Given the description of an element on the screen output the (x, y) to click on. 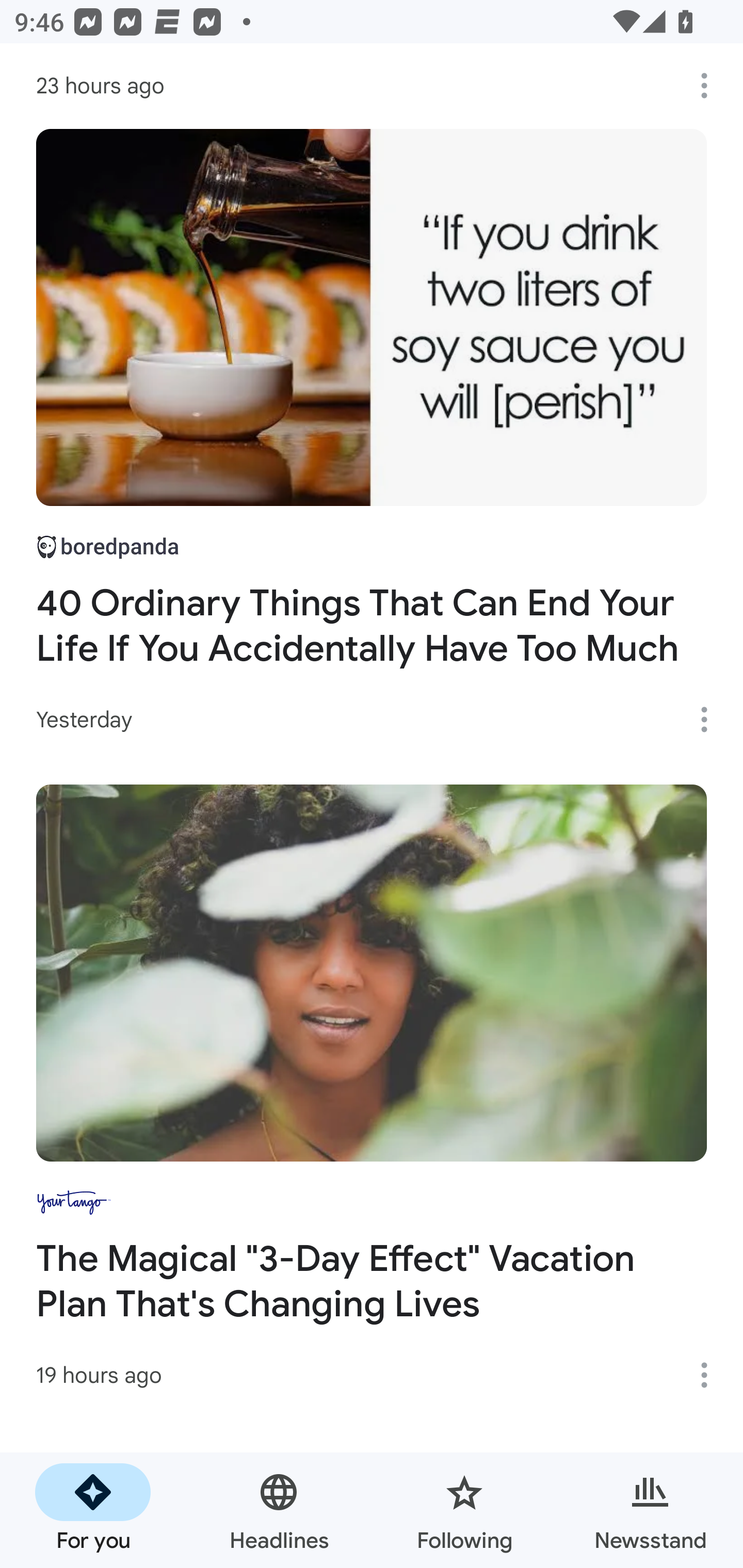
23 hours ago 23 hours ago More options (371, 85)
More options (711, 85)
More options (711, 719)
More options (711, 1375)
For you (92, 1509)
Headlines (278, 1509)
Following (464, 1509)
Newsstand (650, 1509)
